Given the description of an element on the screen output the (x, y) to click on. 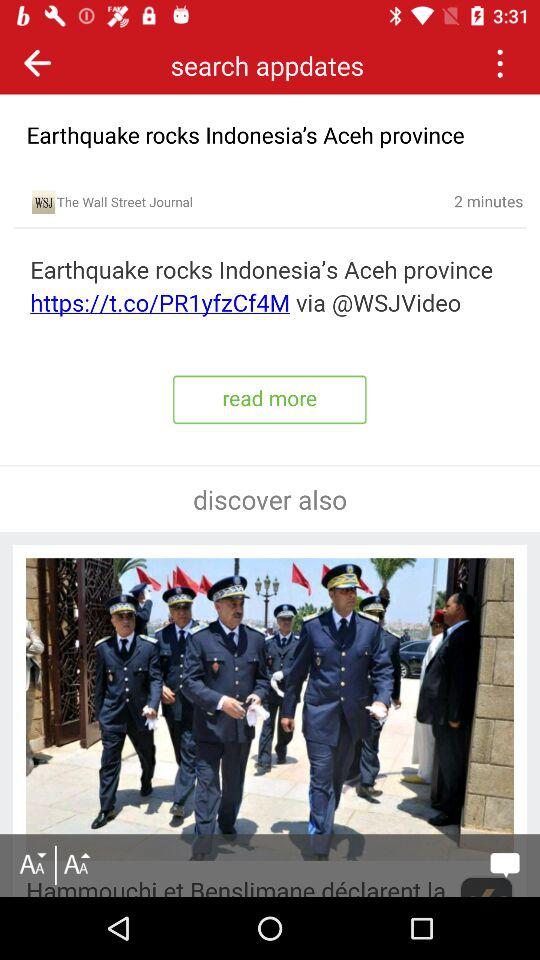
go back (37, 62)
